Given the description of an element on the screen output the (x, y) to click on. 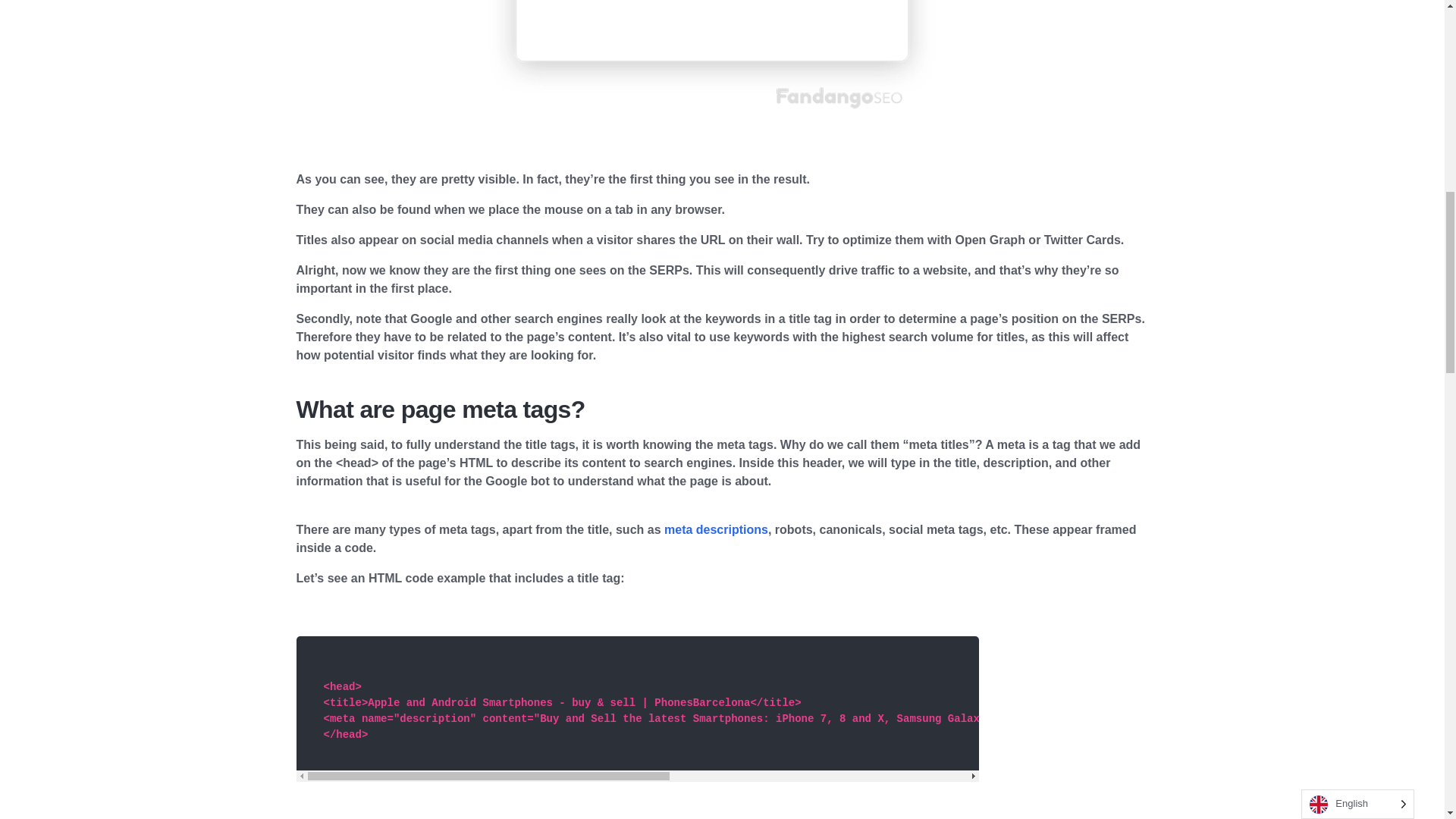
meta descriptions (715, 529)
